Given the description of an element on the screen output the (x, y) to click on. 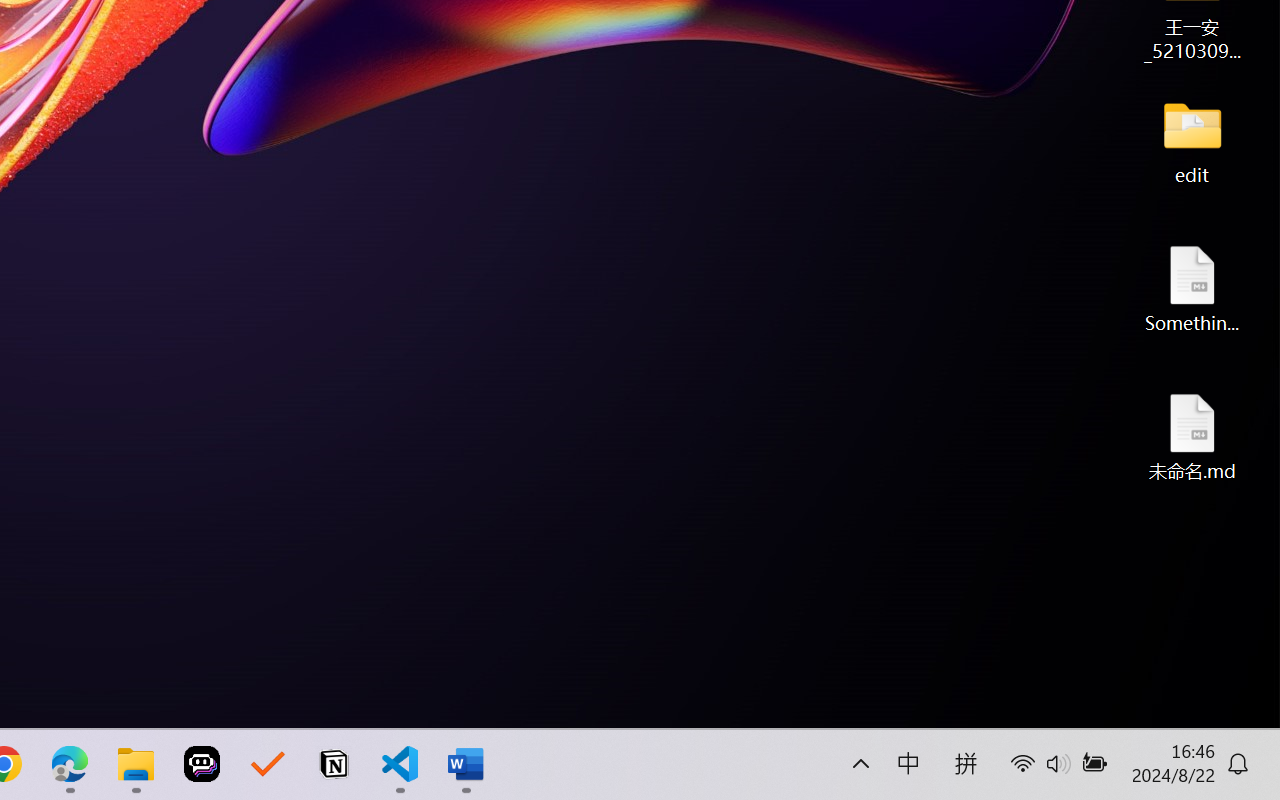
Something.md (1192, 288)
edit (1192, 140)
